Given the description of an element on the screen output the (x, y) to click on. 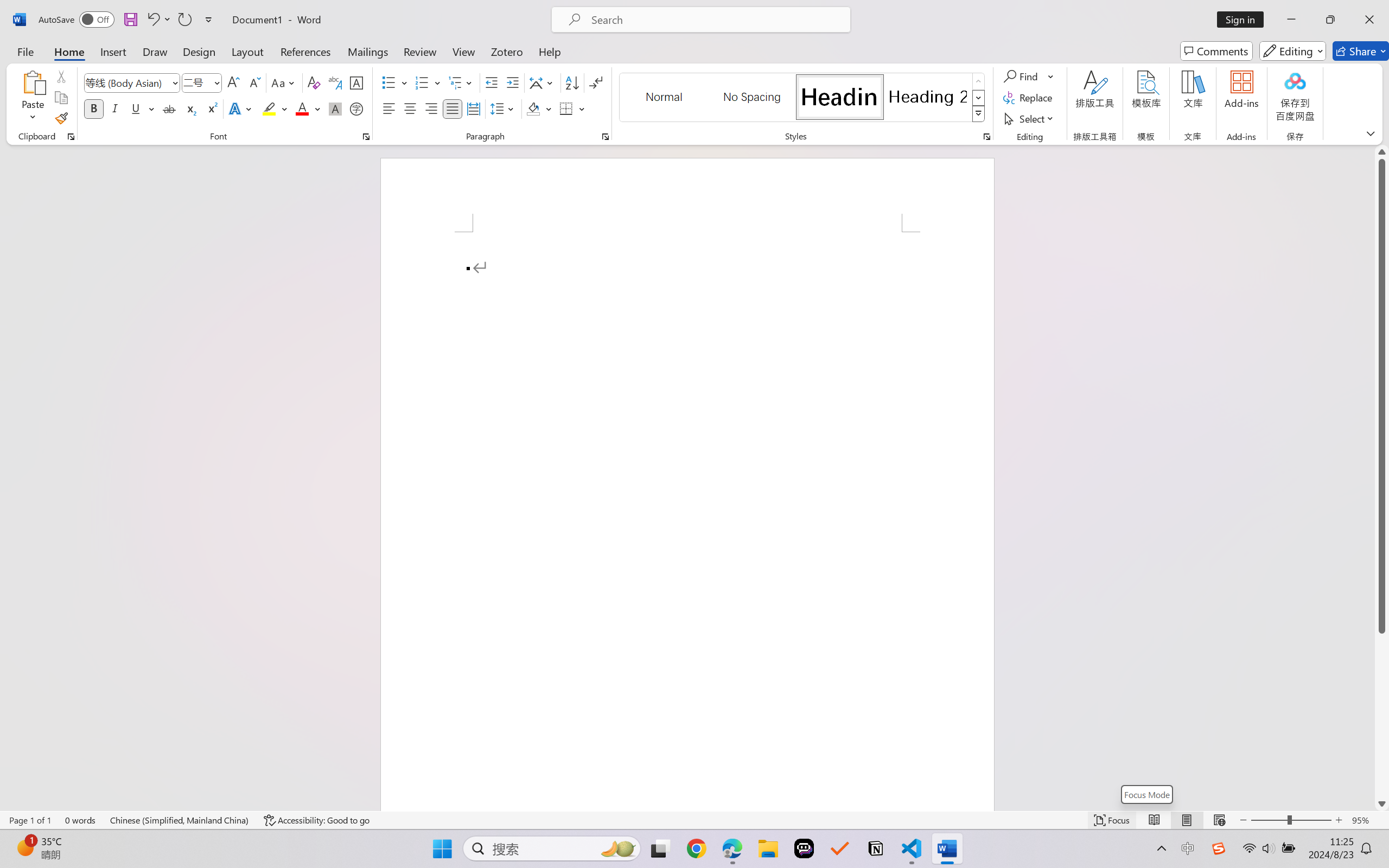
Language Chinese (Simplified, Mainland China) (179, 819)
Repeat Style (184, 19)
Focus Mode (1146, 793)
